Given the description of an element on the screen output the (x, y) to click on. 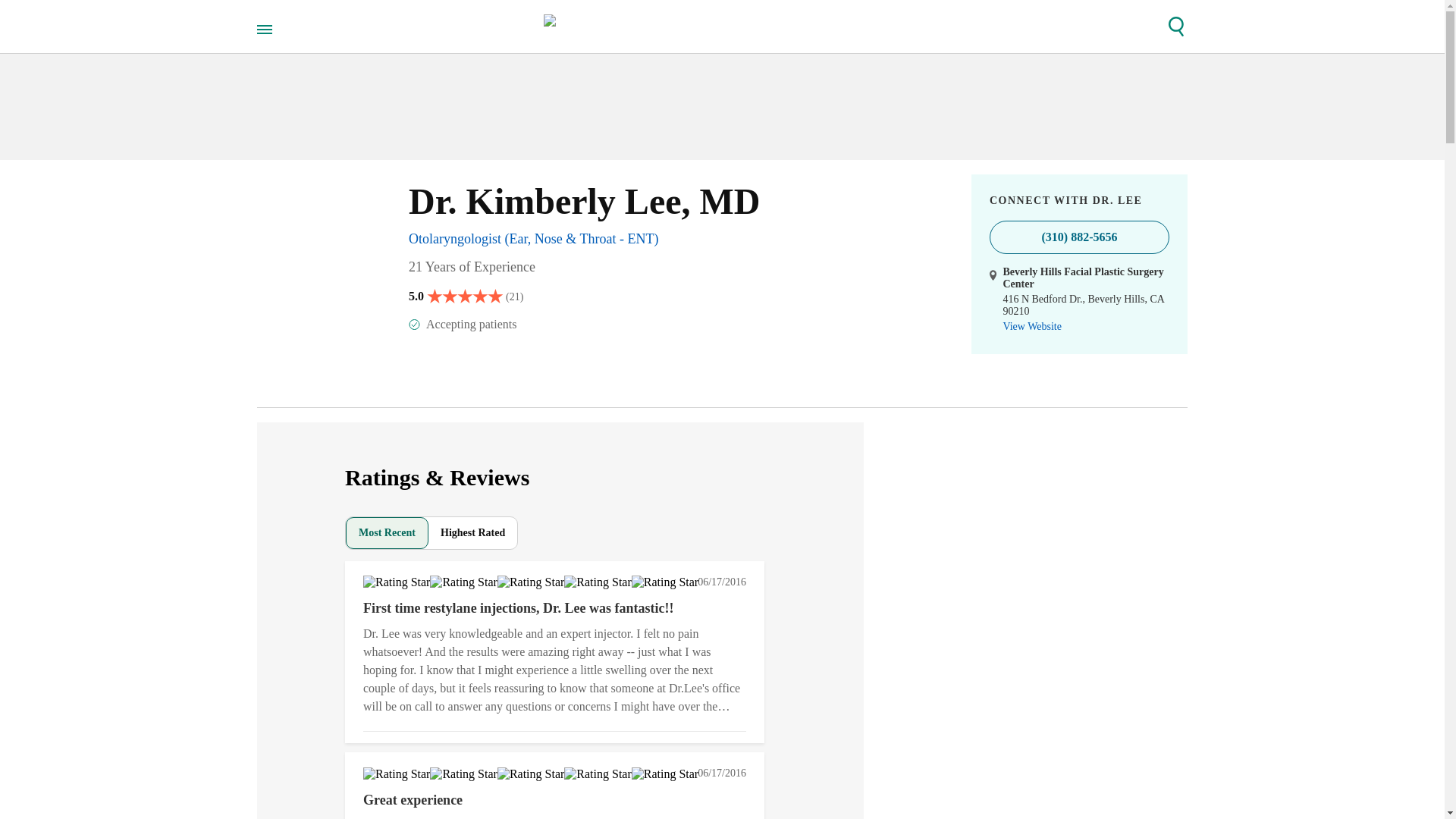
Most Recent (387, 532)
View Website (1032, 326)
Highest Rated (472, 532)
